Given the description of an element on the screen output the (x, y) to click on. 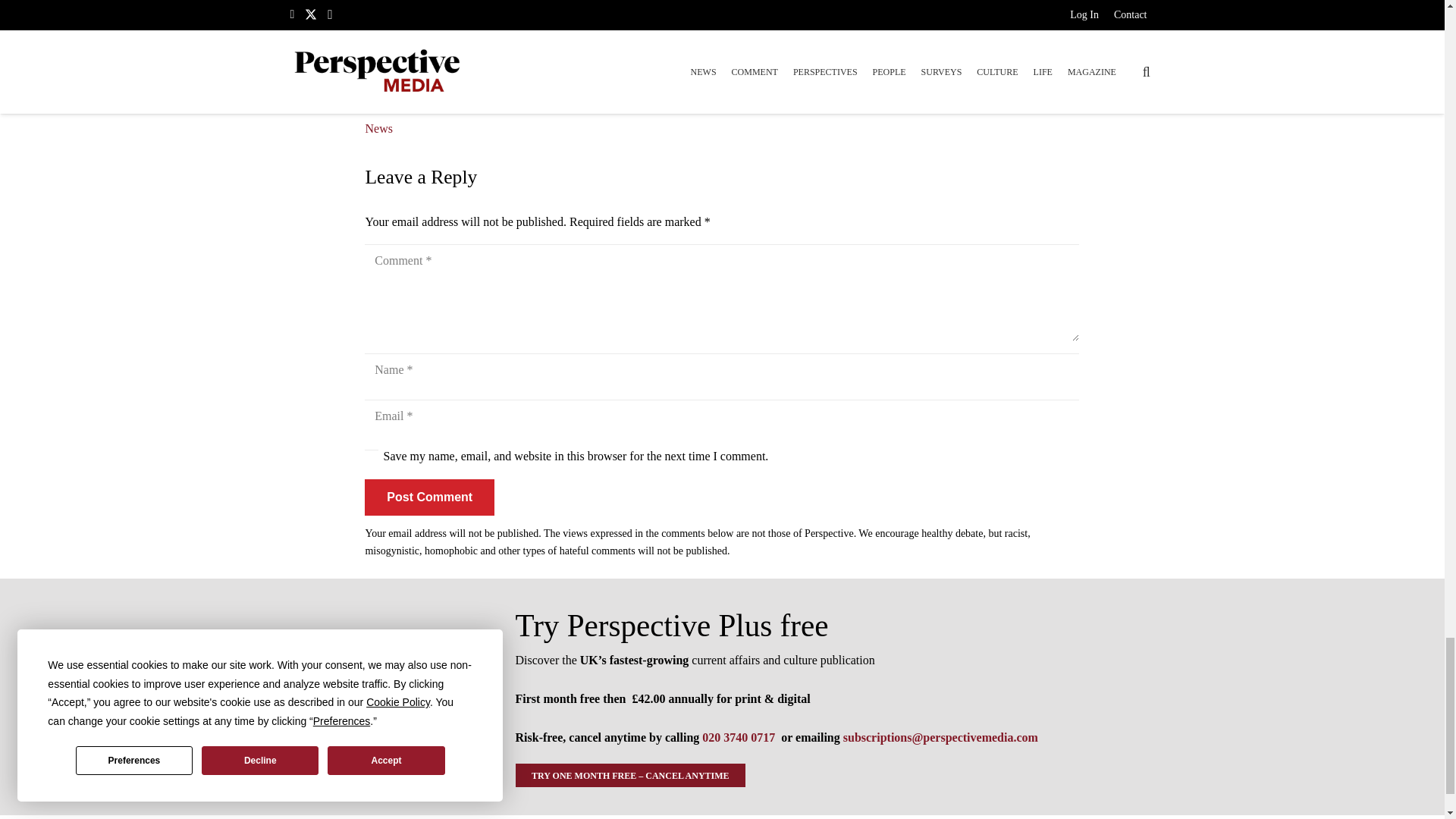
Post Comment (430, 497)
Trial Offer (383, 696)
1 (371, 456)
020 3740 0717 (737, 737)
Claim Offer (722, 79)
News (378, 128)
